Given the description of an element on the screen output the (x, y) to click on. 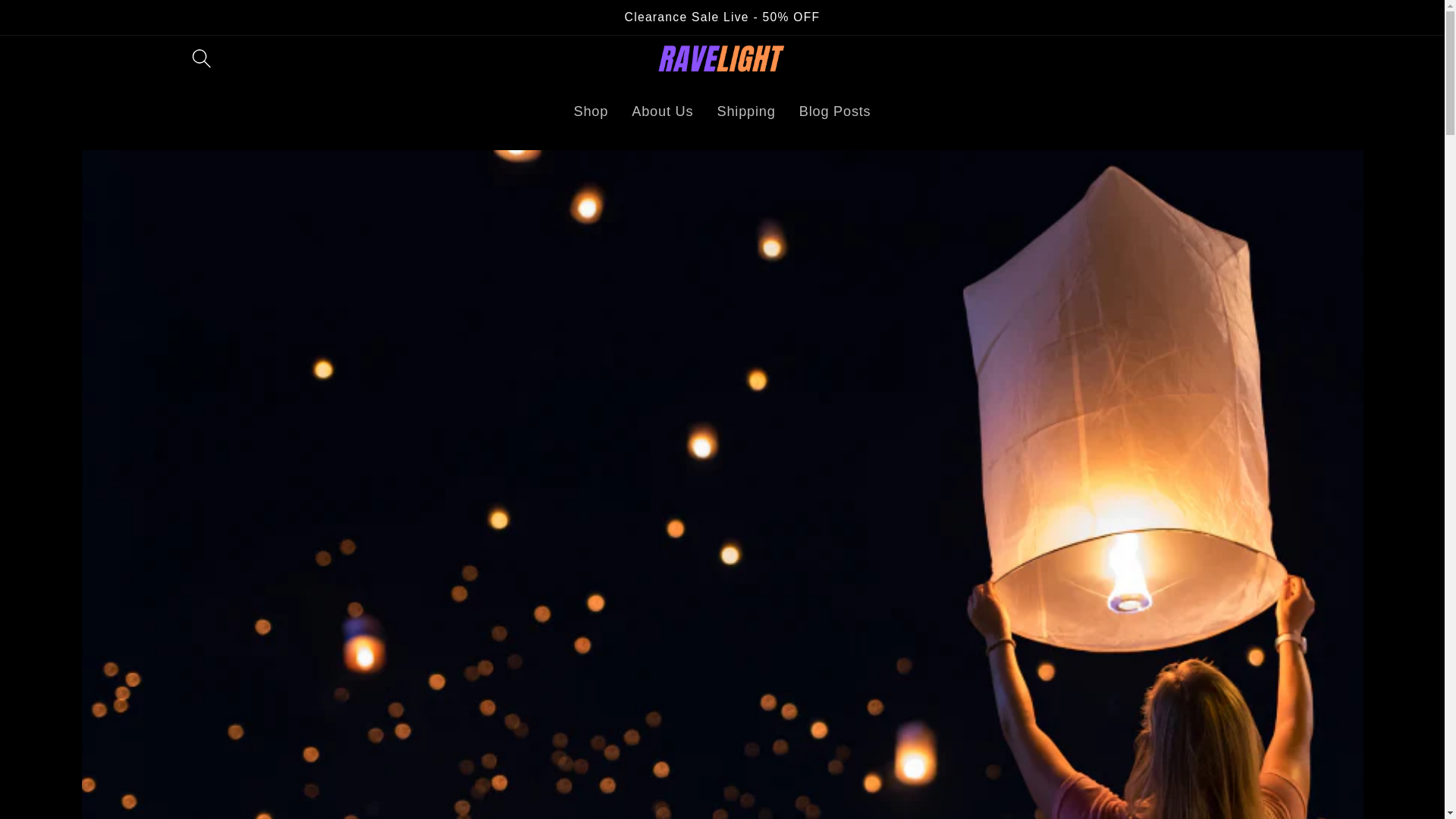
About Us (662, 111)
Shop (591, 111)
Cart (1254, 57)
Shipping (745, 111)
Skip to content (67, 31)
Blog Posts (834, 111)
